Given the description of an element on the screen output the (x, y) to click on. 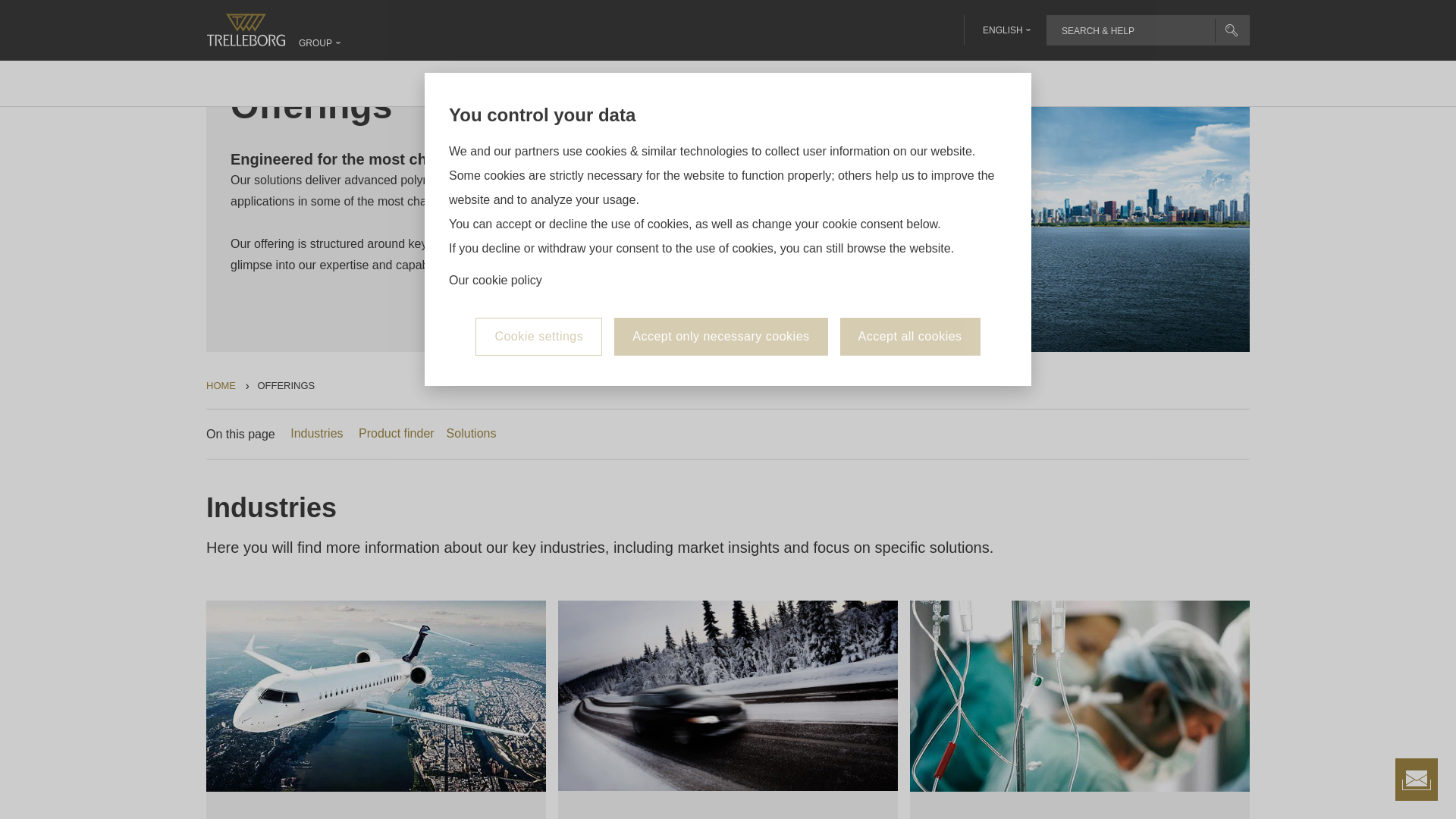
Our cookie policy (494, 174)
Accept only necessary cookies (720, 230)
Cookie settings (539, 230)
Accept all cookies (909, 230)
